Given the description of an element on the screen output the (x, y) to click on. 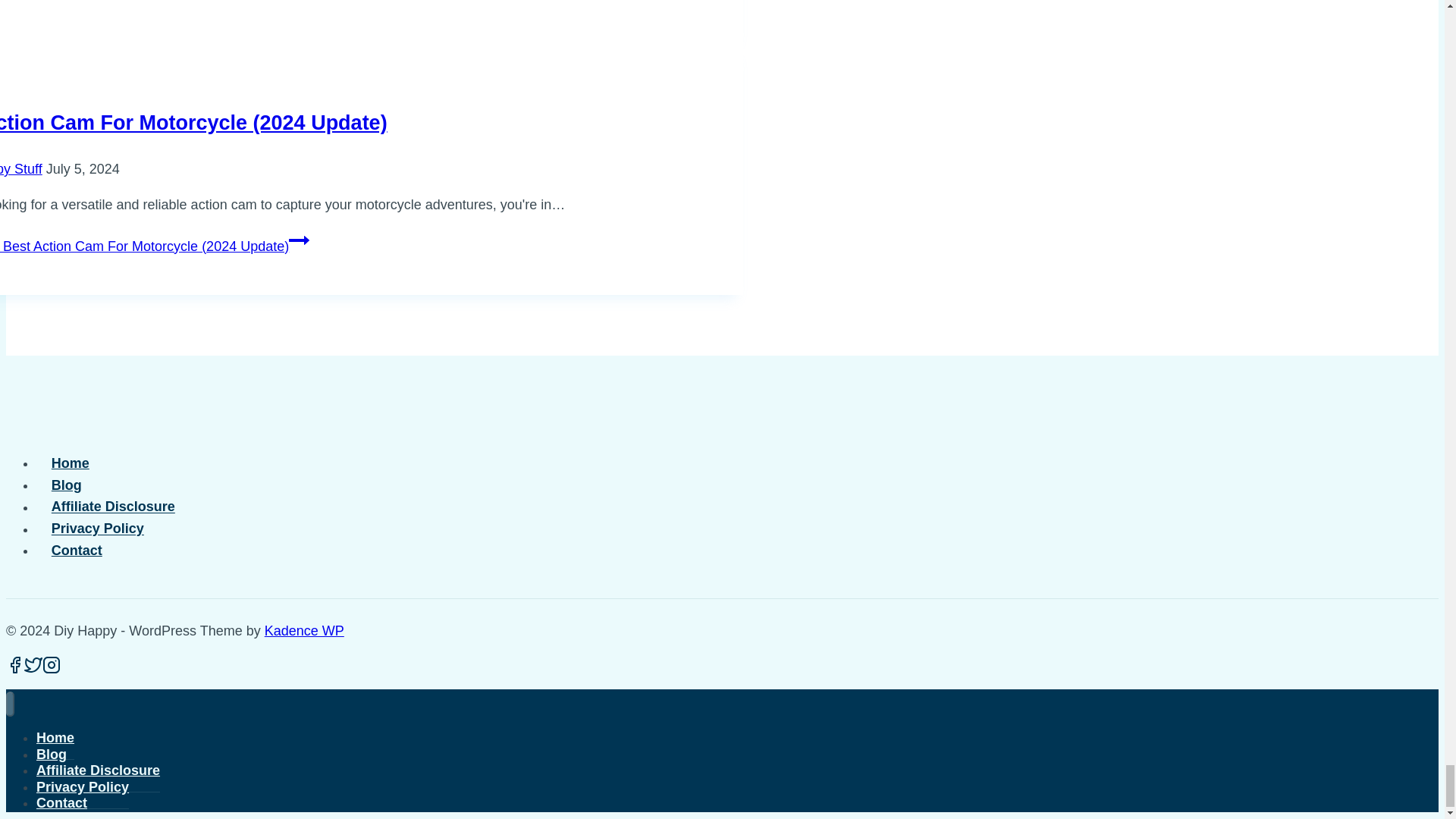
Instagram (51, 665)
Continue (298, 240)
Facebook (14, 665)
Twitter (33, 665)
